Given the description of an element on the screen output the (x, y) to click on. 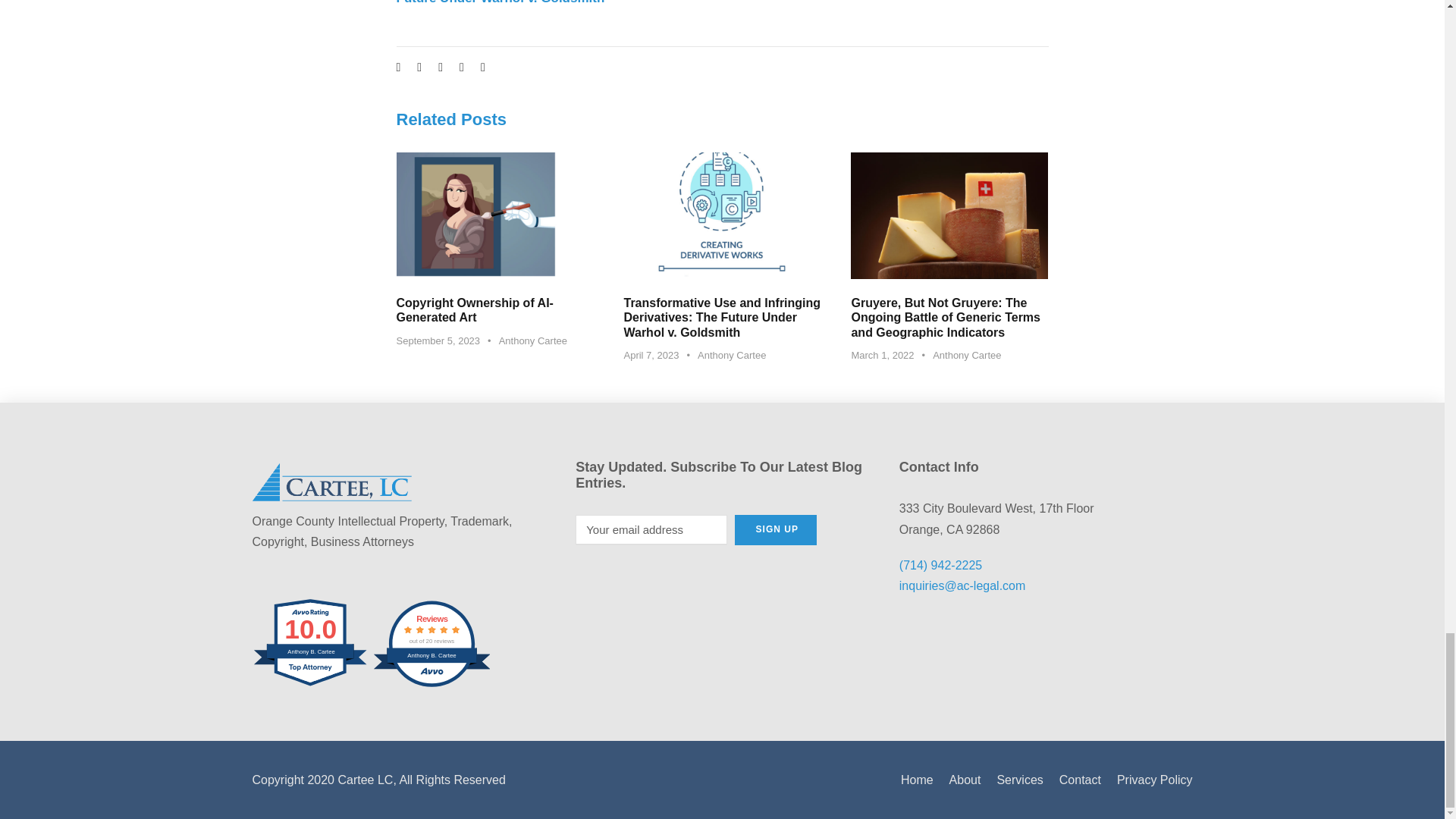
Posts by Anthony Cartee (731, 355)
2023.3.29 IMAGE Updated for blog (722, 215)
Gruyere and Swiss Cheeses (949, 215)
Sign up (775, 530)
Posts by Anthony Cartee (310, 643)
Posts by Anthony Cartee (431, 643)
